Given the description of an element on the screen output the (x, y) to click on. 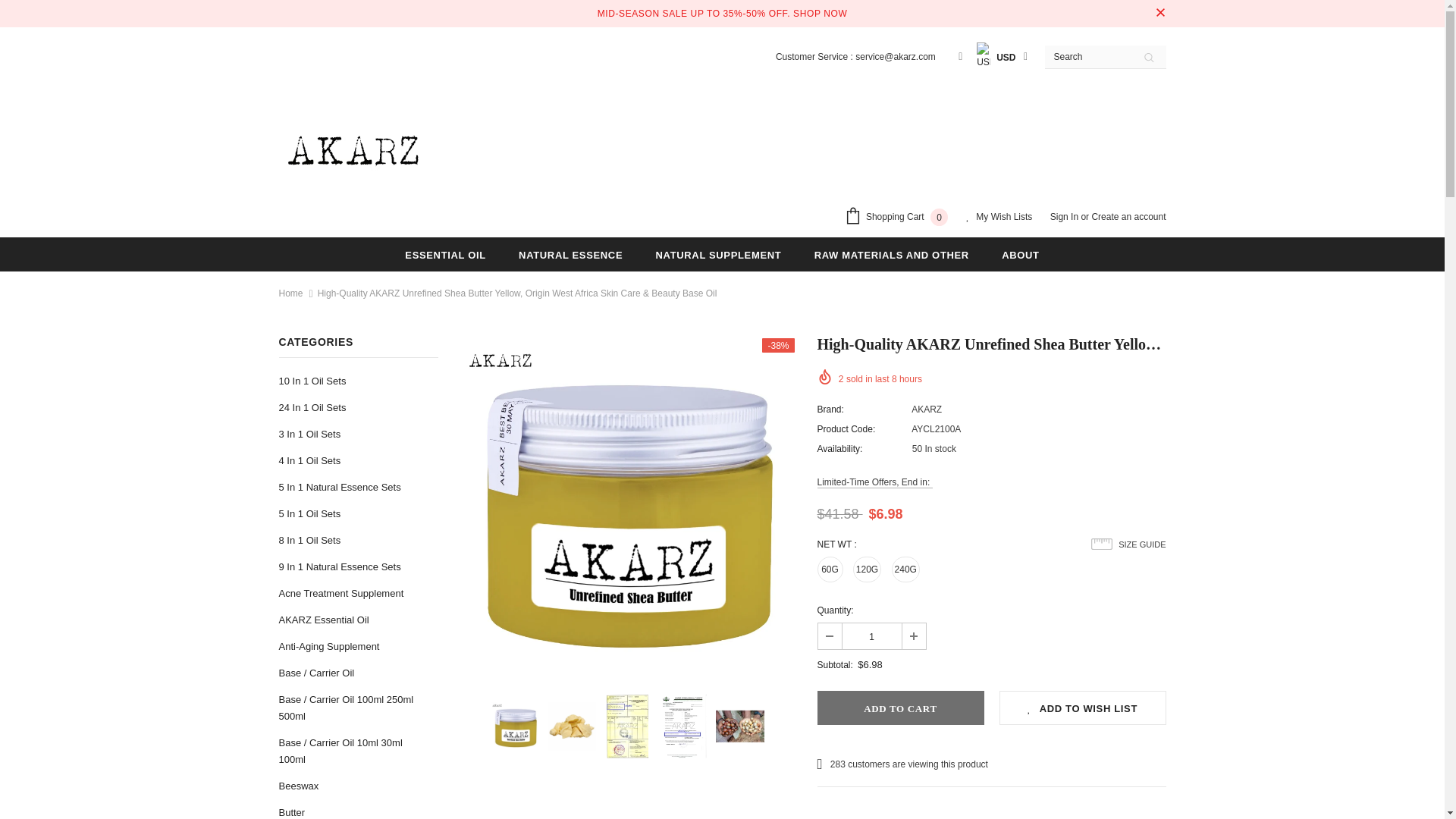
1 (871, 636)
Sign In (1065, 216)
Shopping Cart 0 (899, 218)
SHOP NOW (820, 13)
Create an account (1128, 216)
Add to cart (900, 707)
ESSENTIAL OIL (444, 254)
close (1160, 13)
My Wish Lists (999, 218)
